Given the description of an element on the screen output the (x, y) to click on. 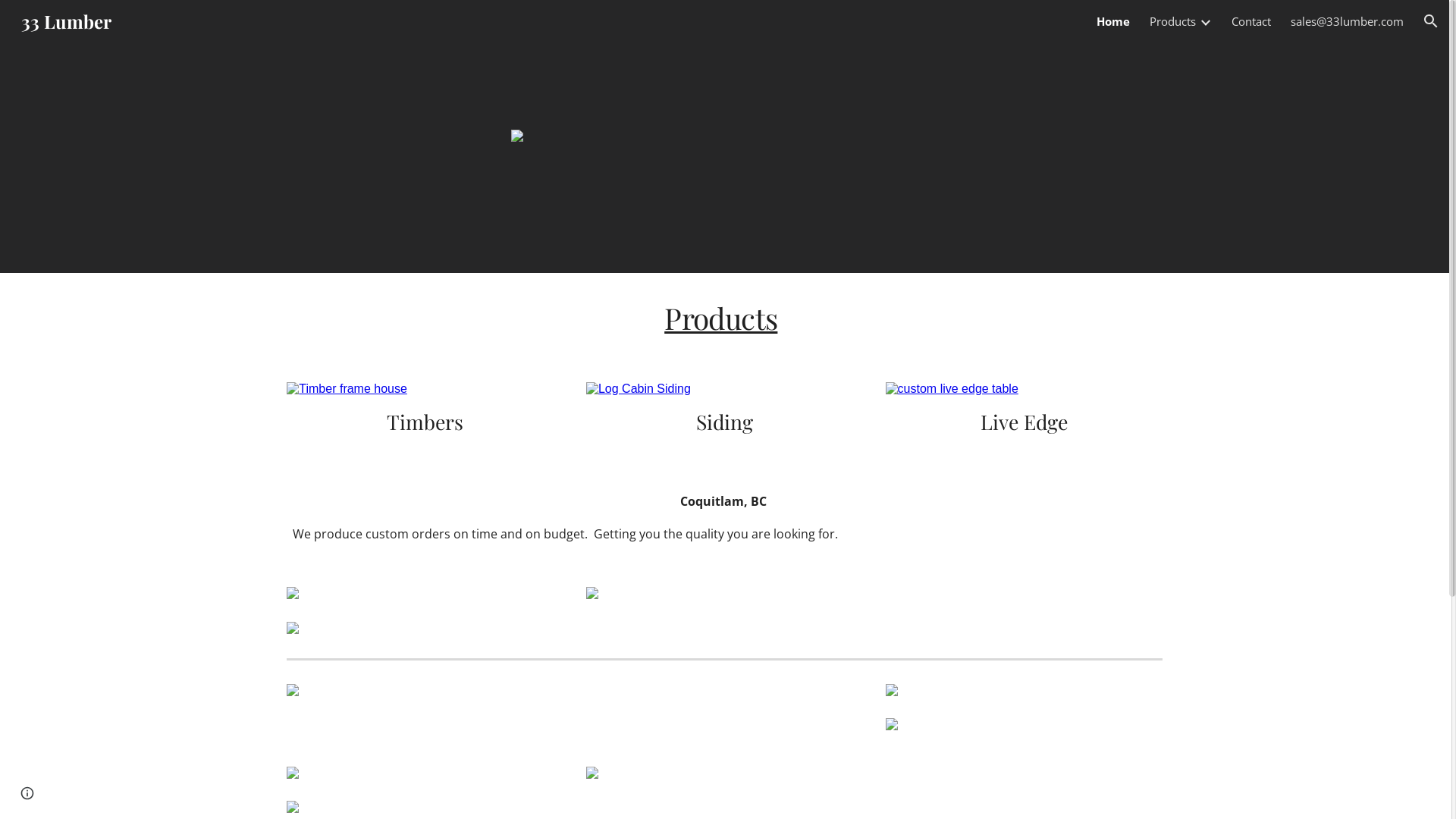
33 Lumber Element type: text (66, 18)
Products Element type: text (1172, 20)
Expand/Collapse Element type: hover (1204, 20)
sales@33lumber.com Element type: text (1346, 20)
Contact Element type: text (1250, 20)
Home Element type: text (1112, 20)
Products Element type: text (720, 317)
